Given the description of an element on the screen output the (x, y) to click on. 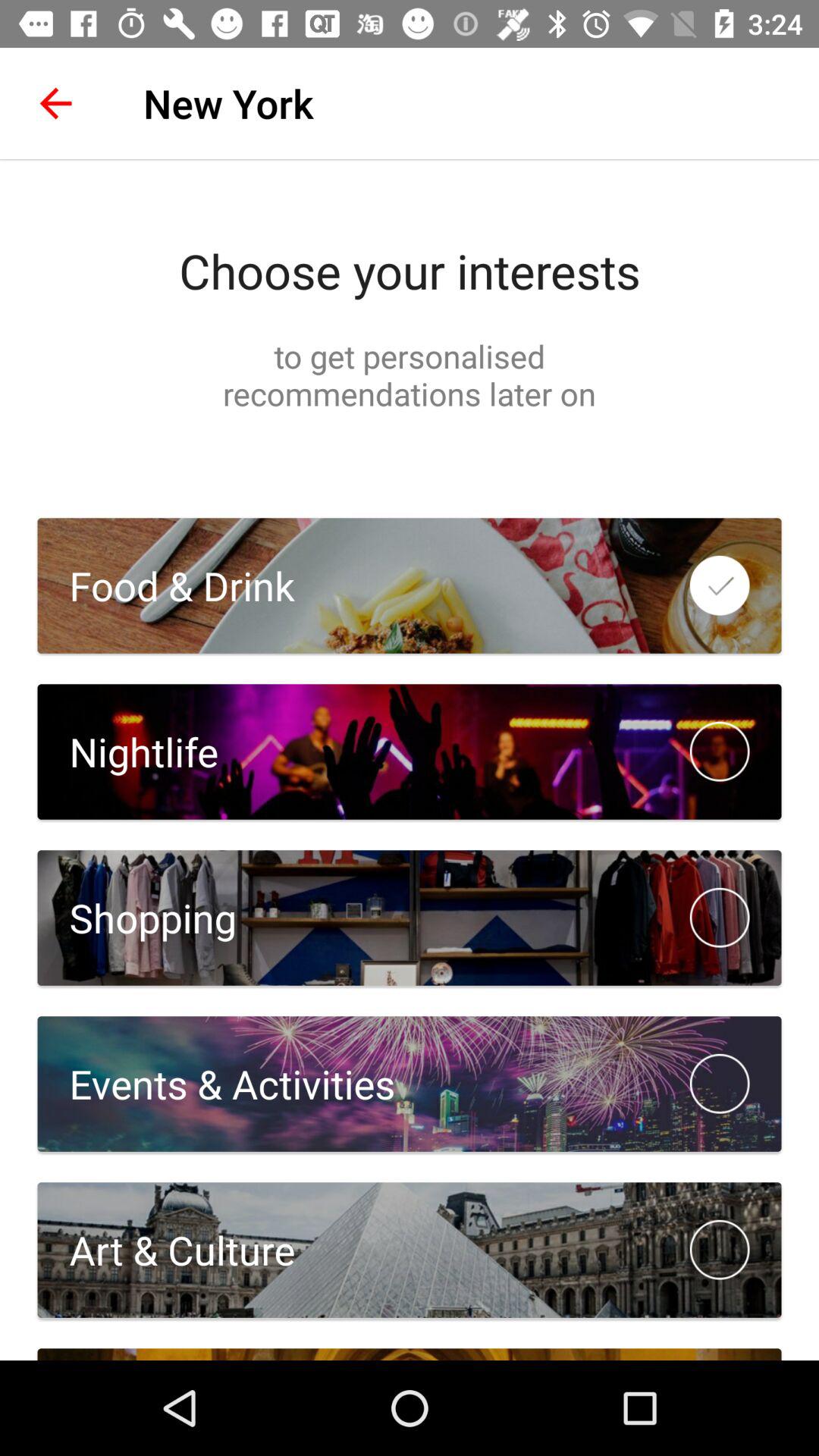
open the events & activities item (216, 1083)
